Given the description of an element on the screen output the (x, y) to click on. 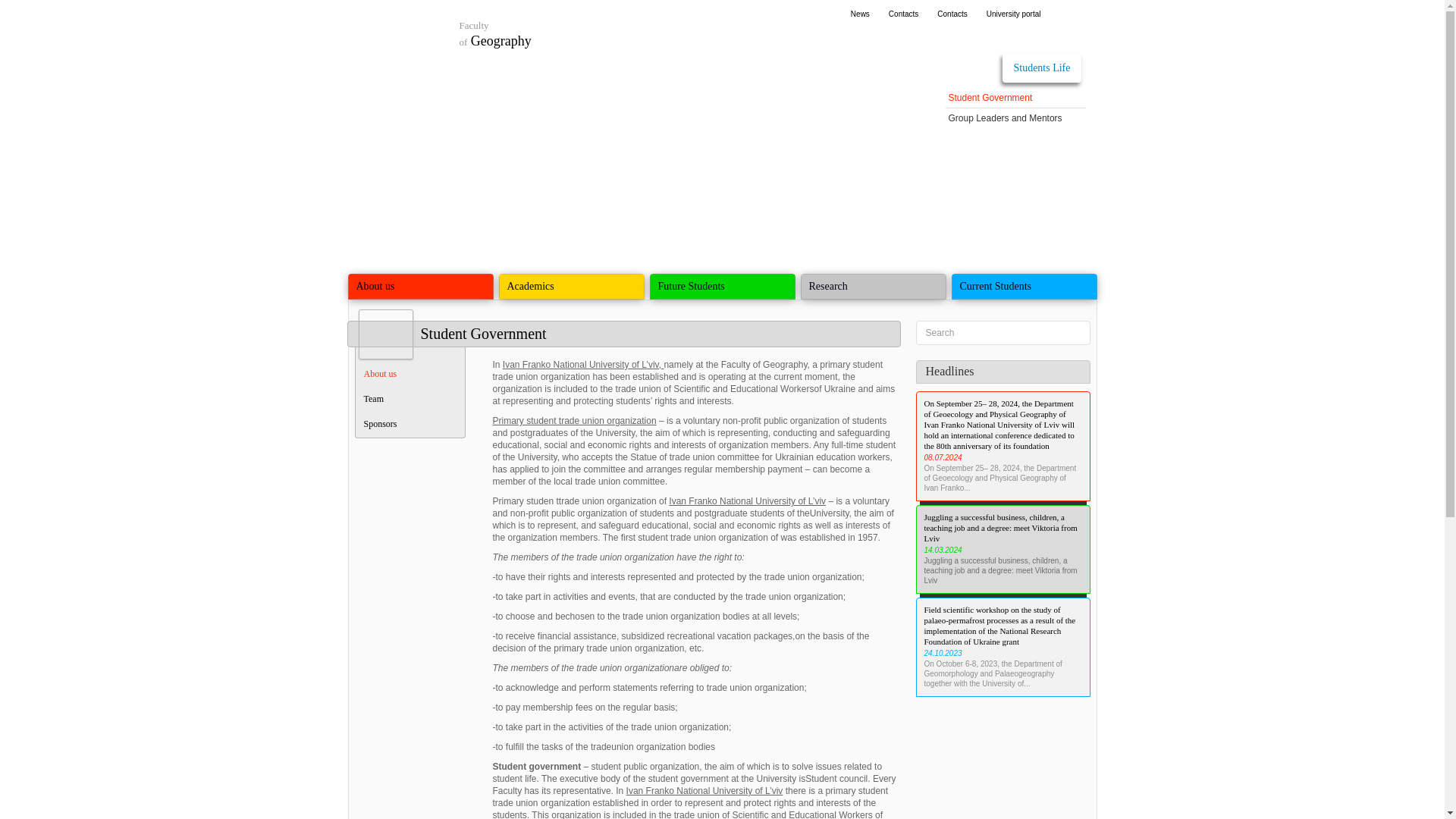
University portal (1013, 13)
Contacts (495, 32)
Contacts (903, 13)
News (952, 13)
